Given the description of an element on the screen output the (x, y) to click on. 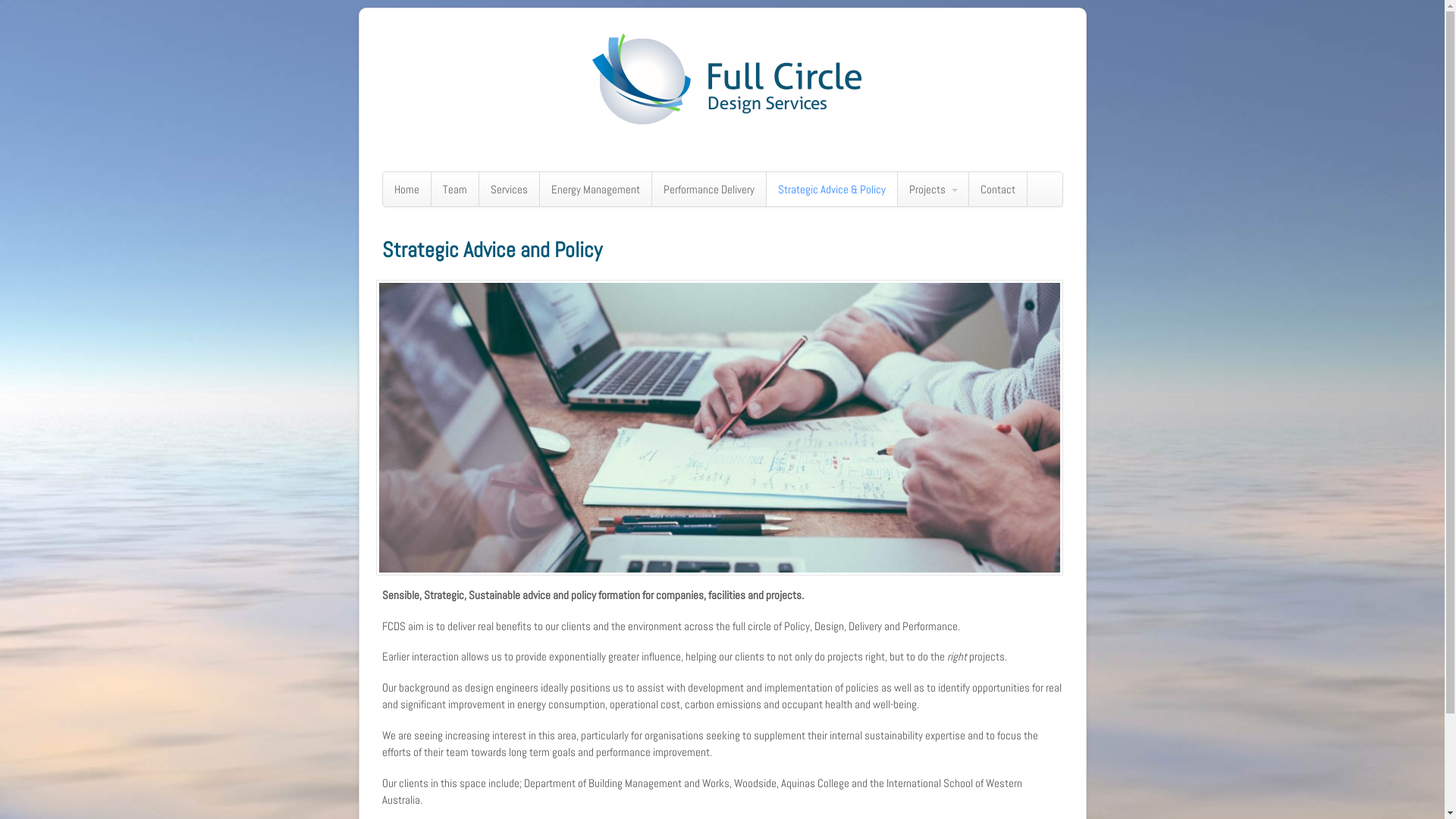
Services Element type: text (509, 189)
Projects Element type: text (932, 189)
Team Element type: text (453, 189)
Home Element type: text (405, 189)
Performance Delivery Element type: text (708, 189)
Strategic Advice & Policy Element type: text (830, 189)
Energy Management Element type: text (595, 189)
Contact Element type: text (997, 189)
